Given the description of an element on the screen output the (x, y) to click on. 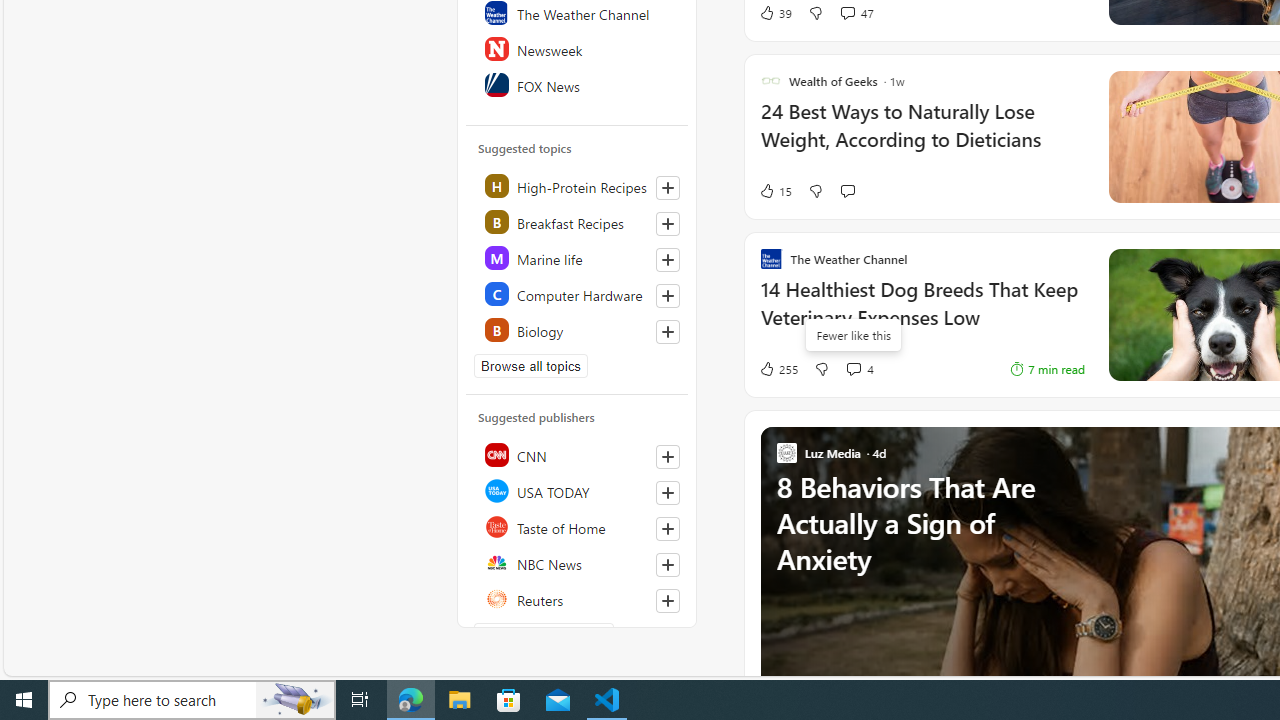
Class: highlight (578, 329)
39 Like (775, 12)
View comments 4 Comment (859, 368)
NBC News (578, 562)
Browse all topics (530, 366)
14 Healthiest Dog Breeds That Keep Veterinary Expenses Low (922, 313)
Follow this topic (667, 331)
Browse all publishers (543, 634)
Follow this topic (667, 331)
Follow this source (667, 600)
FOX News (578, 84)
Start the conversation (847, 191)
Taste of Home (578, 526)
CNN (578, 454)
